Given the description of an element on the screen output the (x, y) to click on. 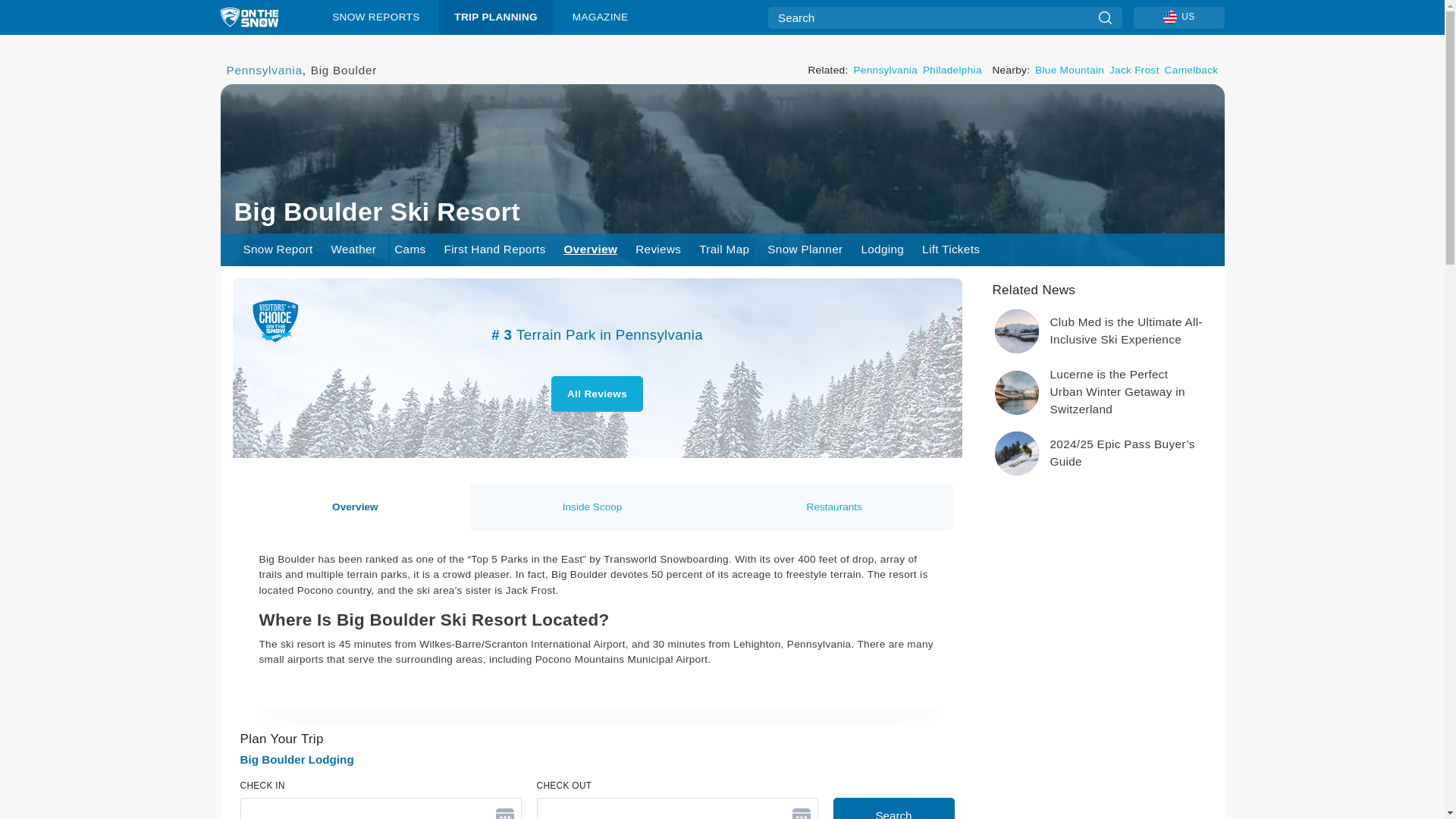
MAGAZINE (599, 17)
All Reviews (597, 393)
First Hand Reports (493, 249)
Snow Planner (804, 249)
Lodging (881, 249)
Pennsylvania (885, 70)
SNOW REPORTS (376, 17)
Snow Report (276, 249)
Trail Map (724, 249)
Blue Mountain (1069, 70)
